Given the description of an element on the screen output the (x, y) to click on. 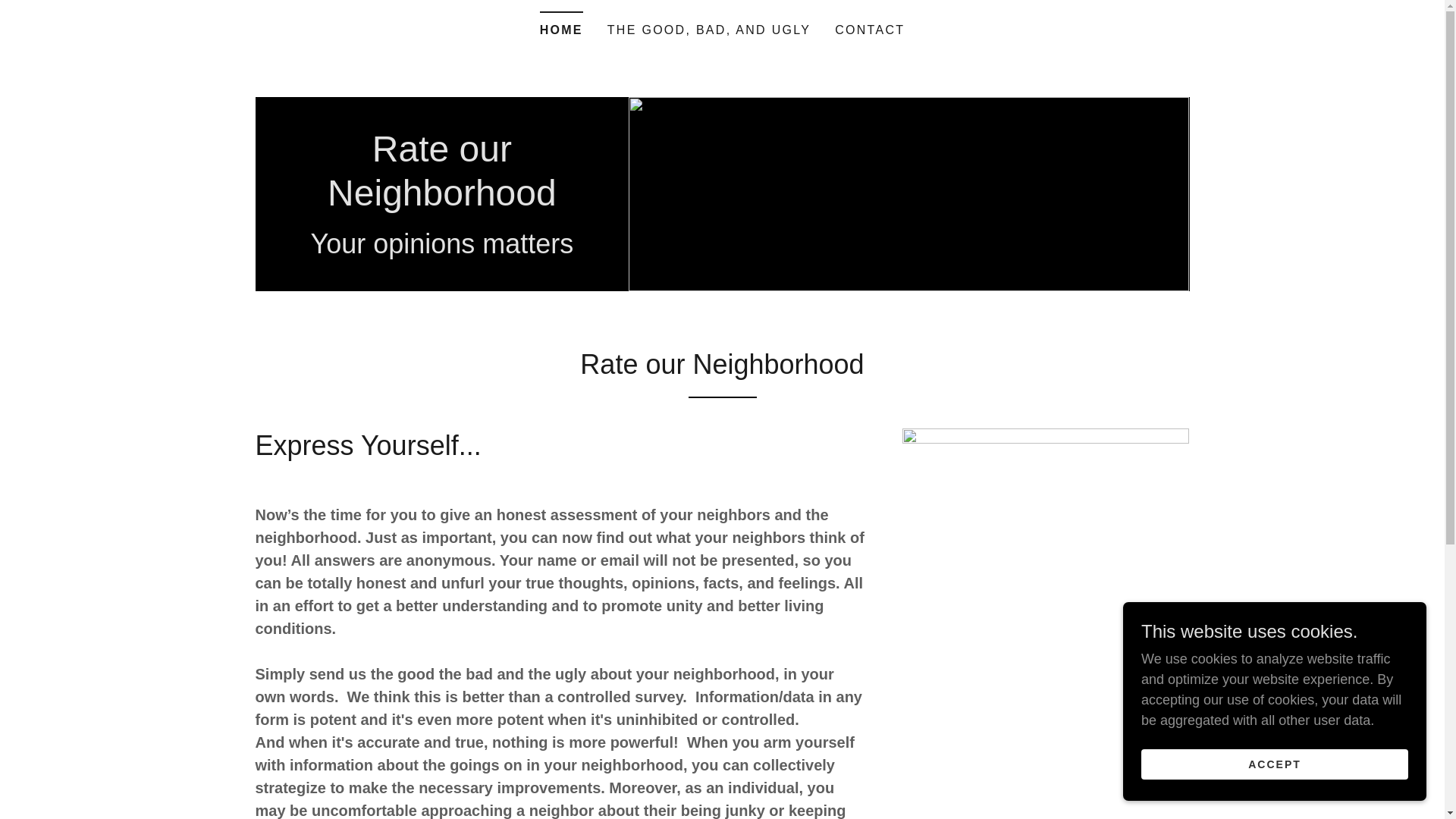
 Rate our Neighborhood (441, 200)
THE GOOD, BAD, AND UGLY (708, 30)
ACCEPT (1274, 764)
CONTACT (868, 30)
HOME (561, 25)
Rate our Neighborhood (441, 200)
